Given the description of an element on the screen output the (x, y) to click on. 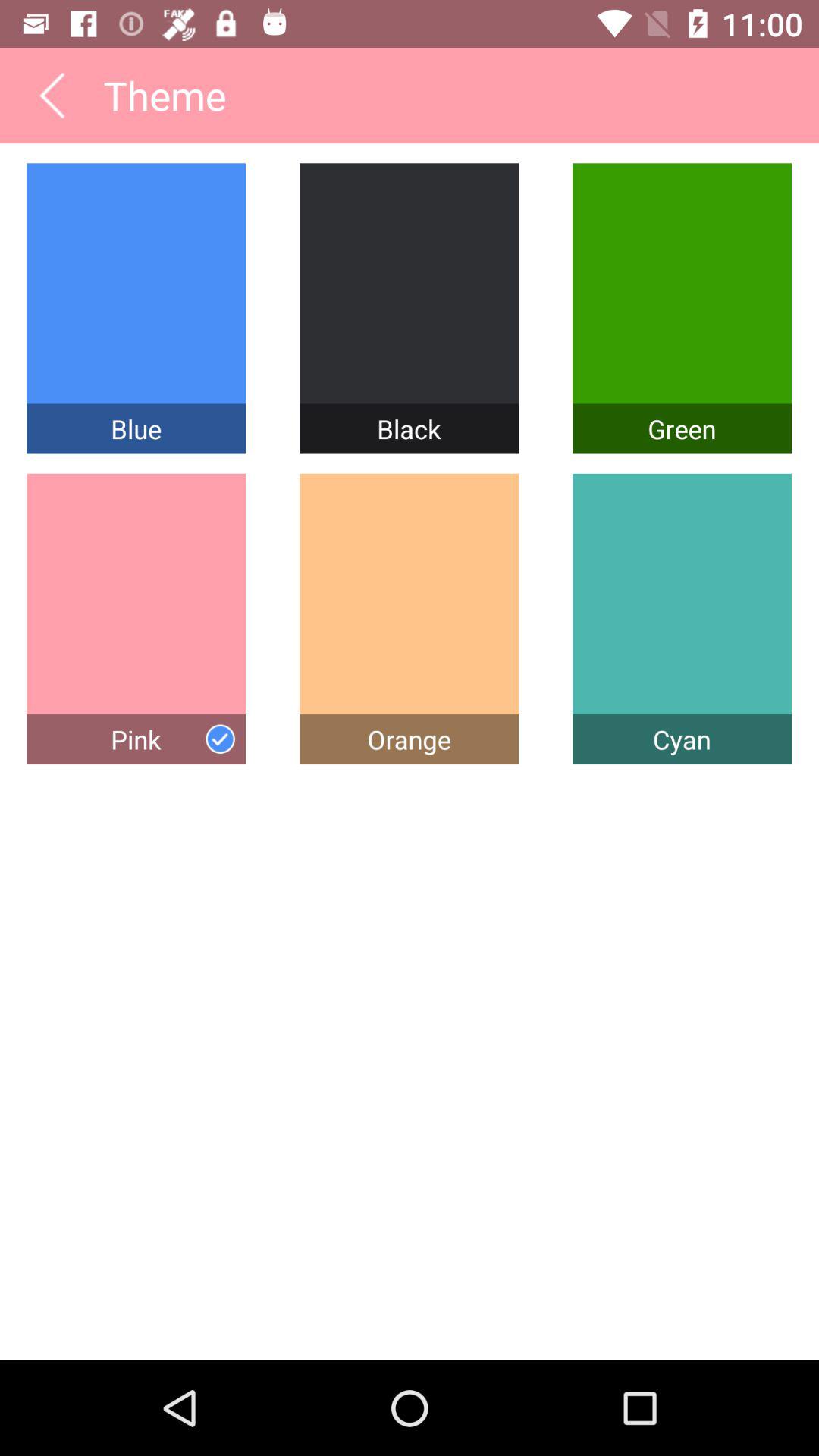
click the item to the left of the theme app (51, 95)
